Given the description of an element on the screen output the (x, y) to click on. 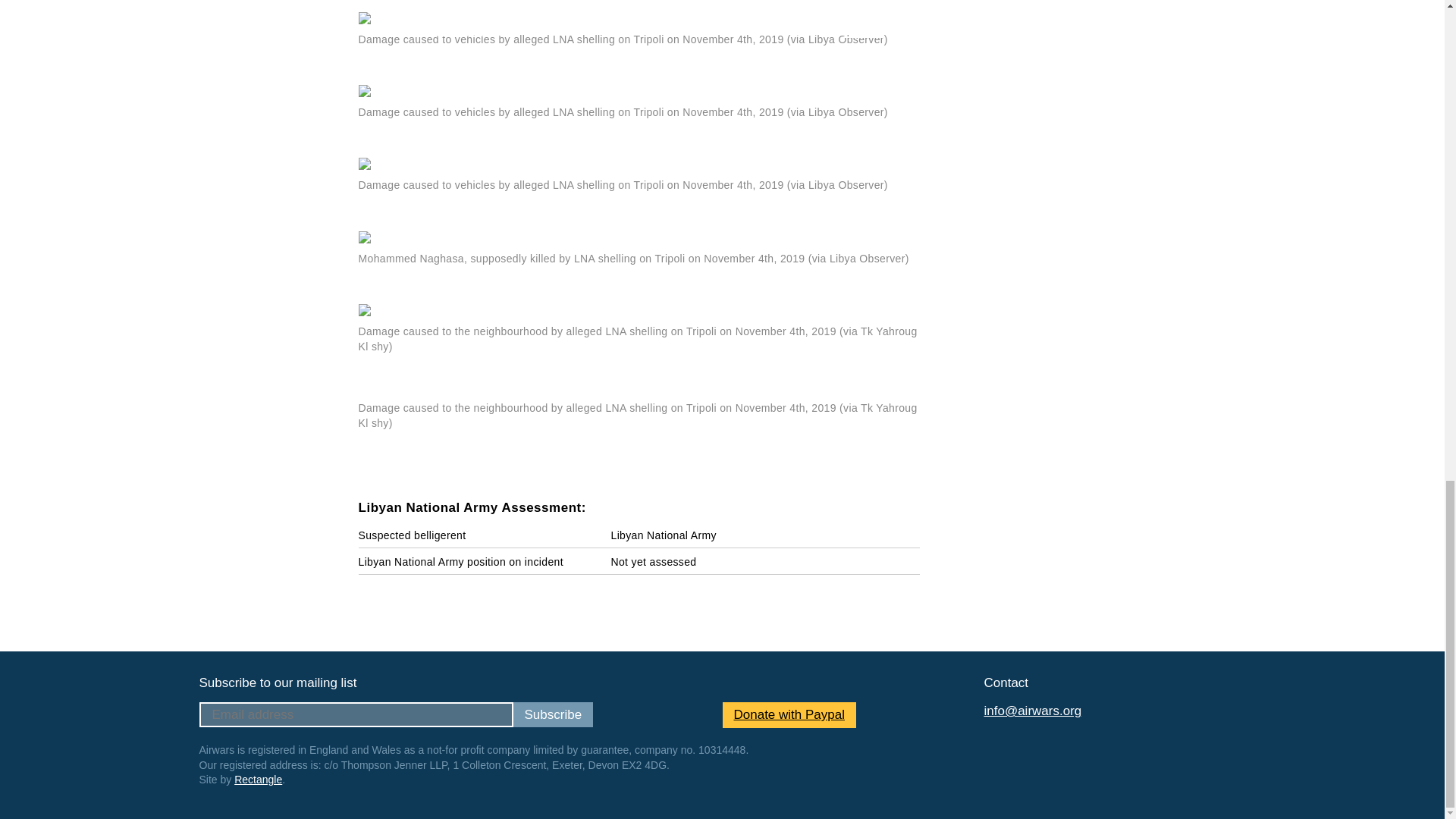
Subscribe (552, 714)
